Given the description of an element on the screen output the (x, y) to click on. 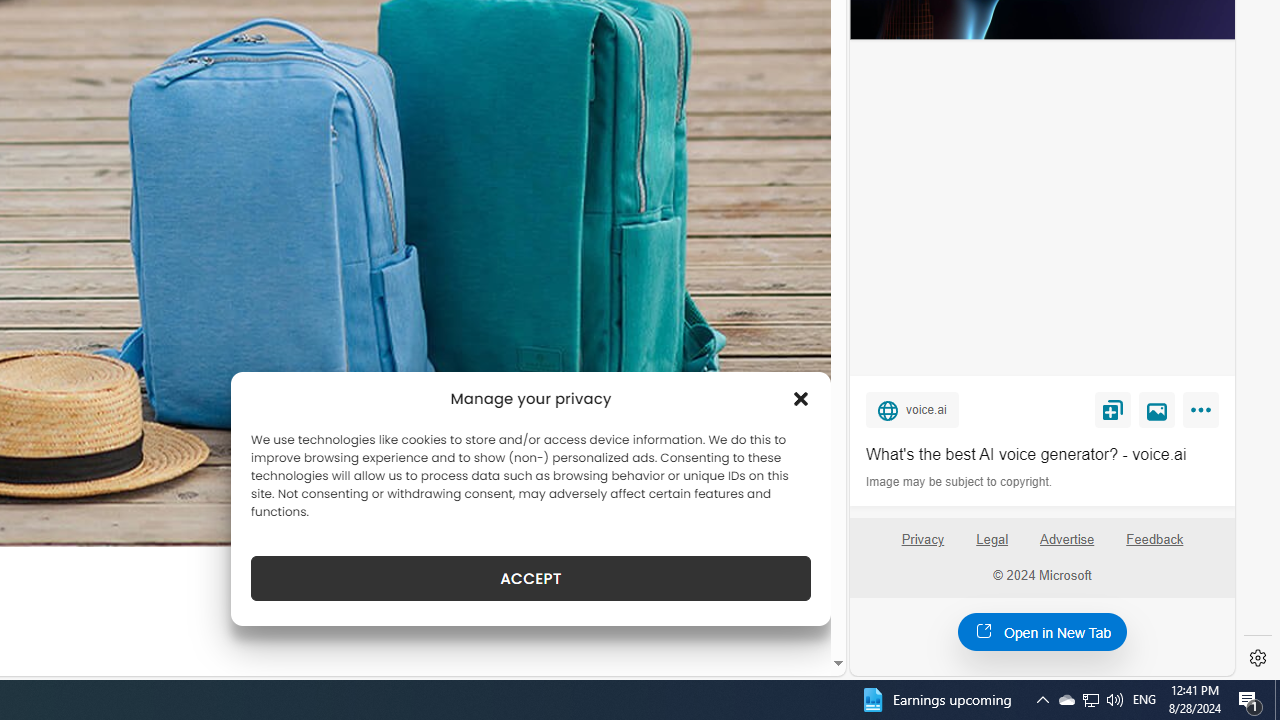
Feedback (1155, 539)
voice.ai (912, 409)
Advertise (1066, 539)
More (1204, 413)
Privacy (922, 547)
Advertise (1067, 547)
View image (1157, 409)
Image may be subject to copyright. (959, 481)
ACCEPT (530, 578)
Privacy (922, 539)
Feedback (1154, 547)
What's the best AI voice generator? - voice.ai (1042, 454)
Class: cmplz-close (801, 398)
